Given the description of an element on the screen output the (x, y) to click on. 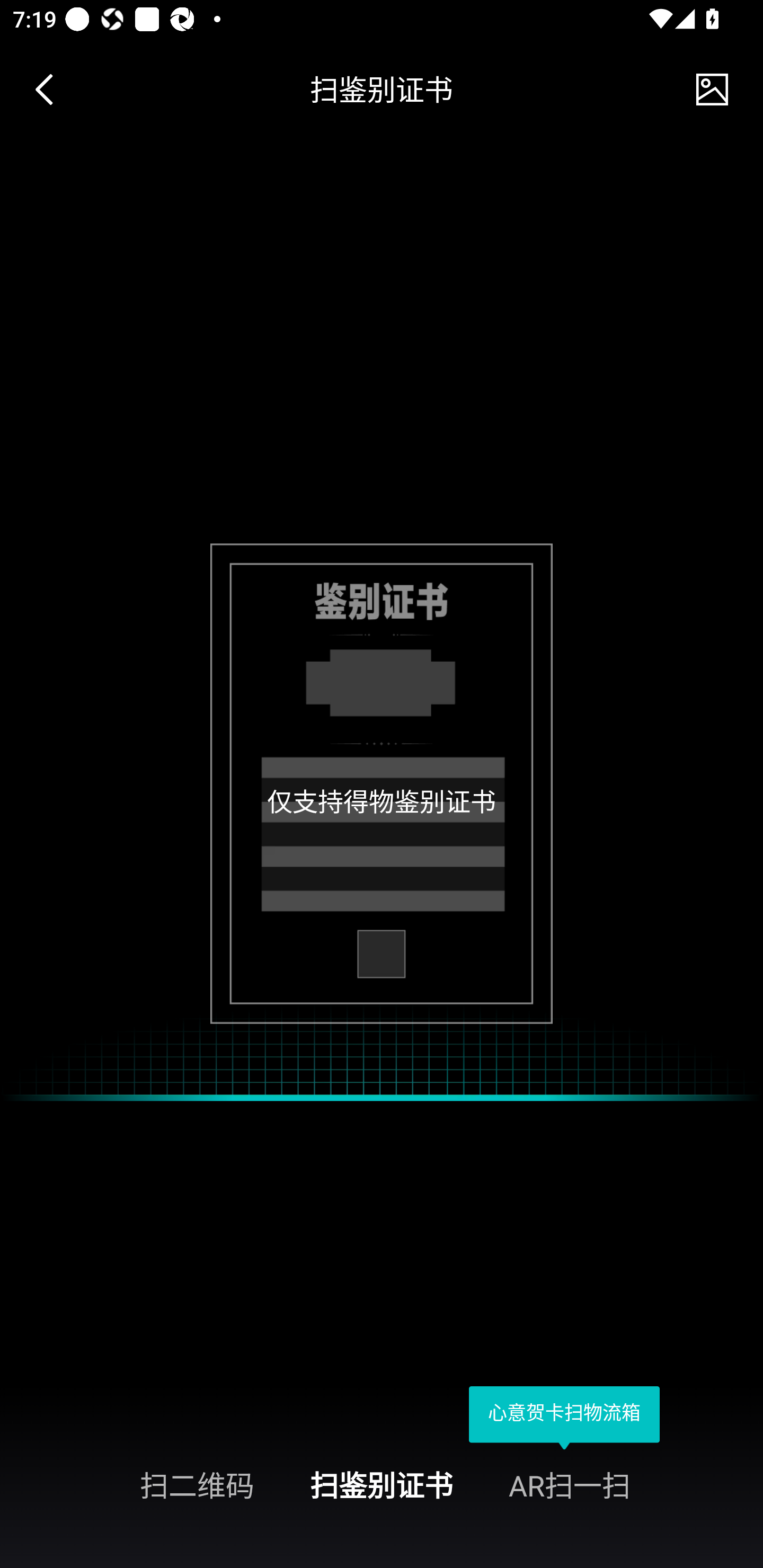
 (51, 89)
 (711, 89)
扫二维码 (127, 1484)
扫鉴别证书 (381, 1484)
AR扫一扫 (635, 1484)
